Given the description of an element on the screen output the (x, y) to click on. 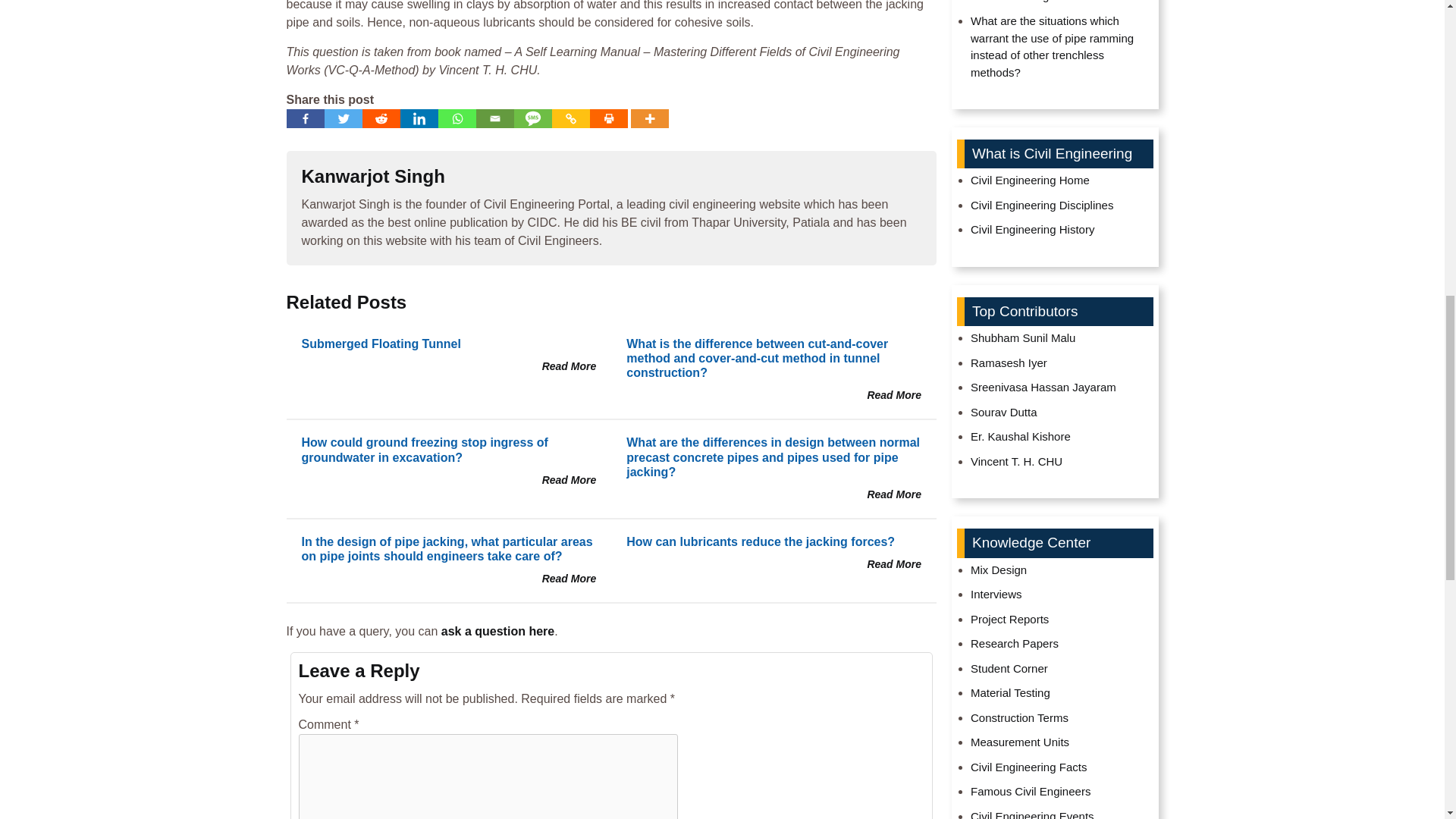
Copy Link (570, 117)
Twitter (343, 117)
Email (494, 117)
Print (608, 117)
Whatsapp (457, 117)
SMS (532, 117)
Submerged Floating Tunnel (381, 343)
More (649, 117)
